Given the description of an element on the screen output the (x, y) to click on. 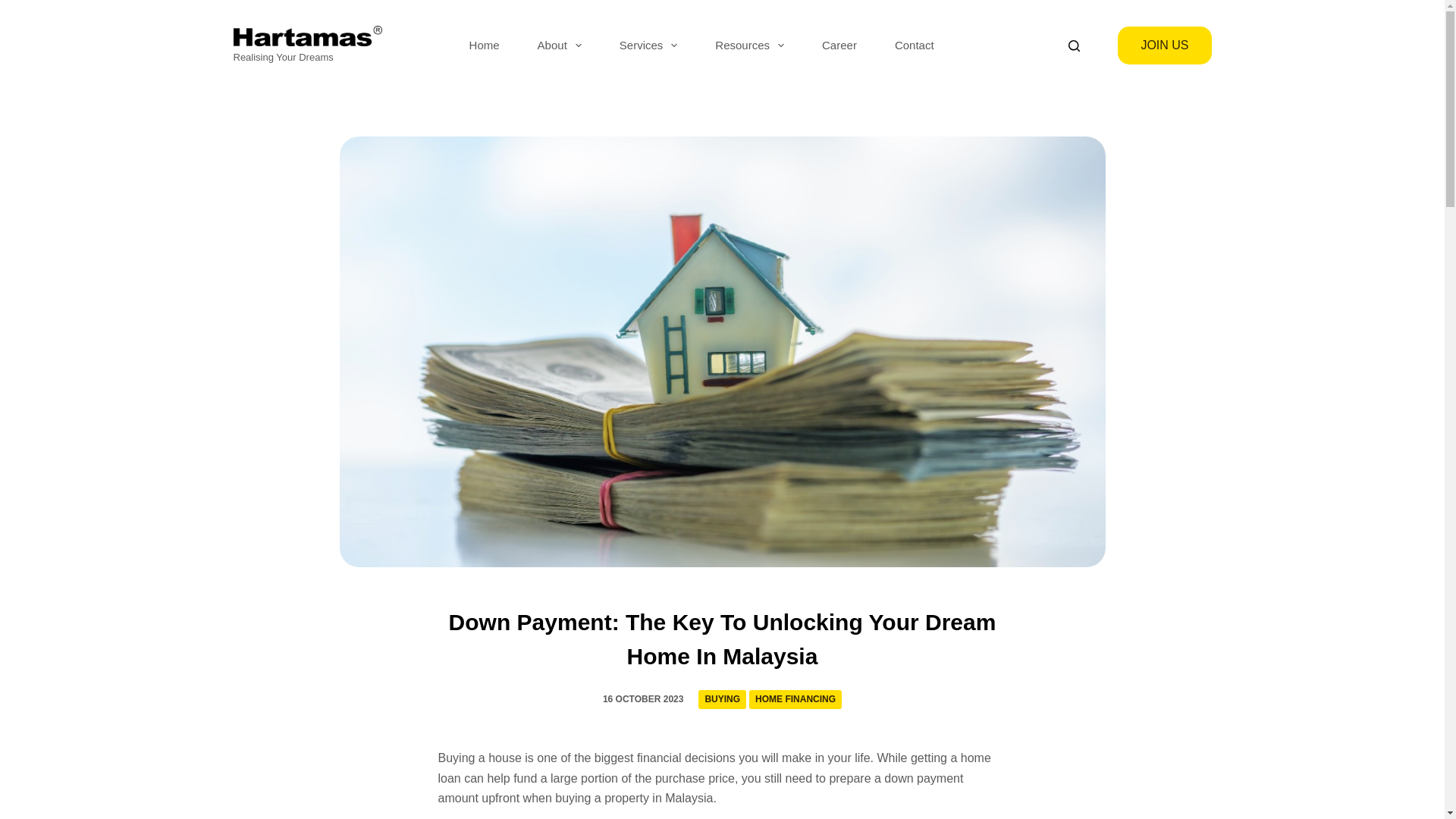
About (558, 45)
Skip to content (15, 7)
Services (648, 45)
Home (483, 45)
